Given the description of an element on the screen output the (x, y) to click on. 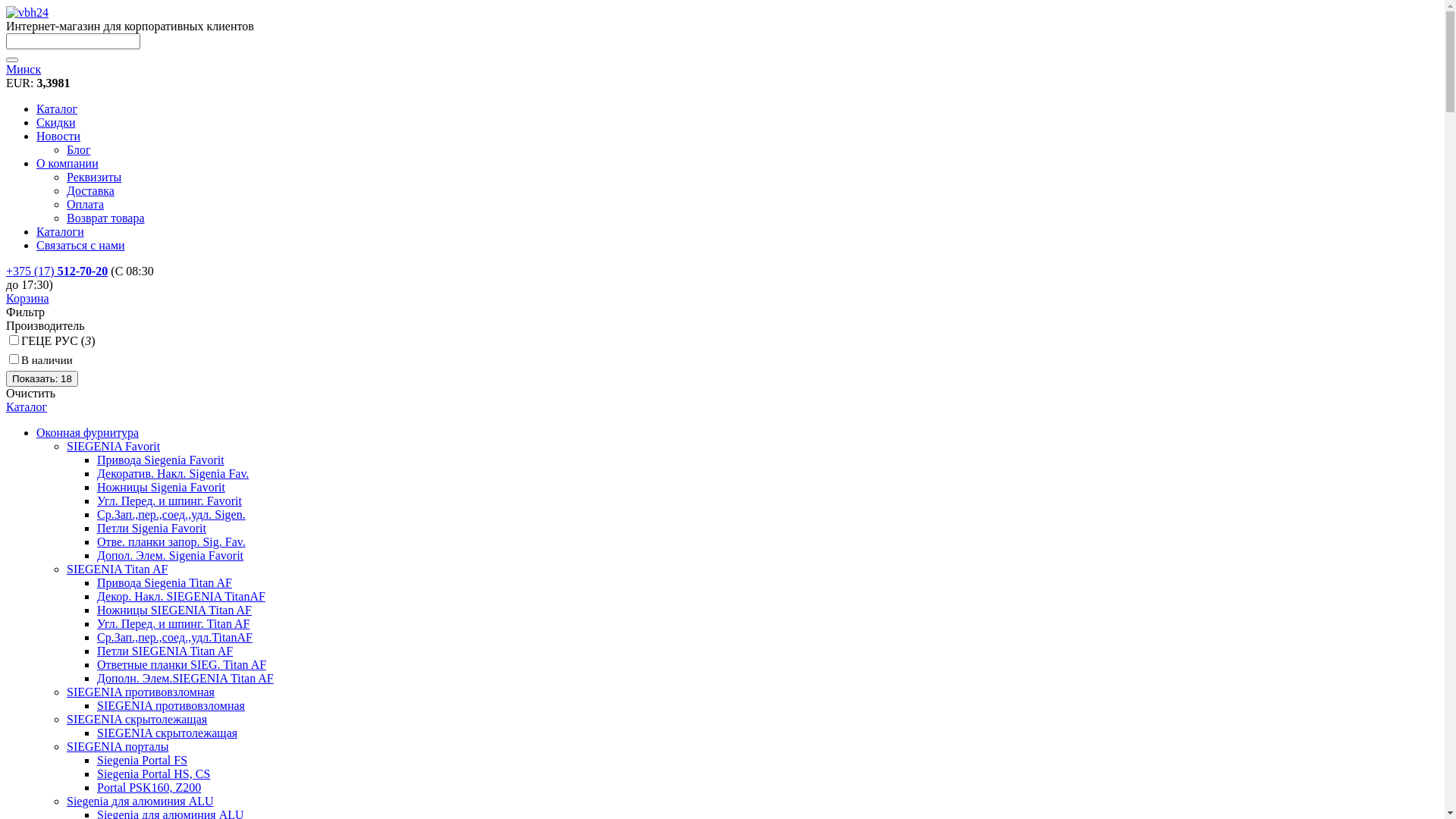
SIEGENIA Titan AF Element type: text (116, 568)
SIEGENIA Favorit Element type: text (113, 445)
+375 (17) 512-70-20 Element type: text (56, 270)
Siegenia Portal HS, CS Element type: text (153, 773)
Siegenia Portal FS Element type: text (142, 759)
Portal PSK160, Z200 Element type: text (148, 787)
